Given the description of an element on the screen output the (x, y) to click on. 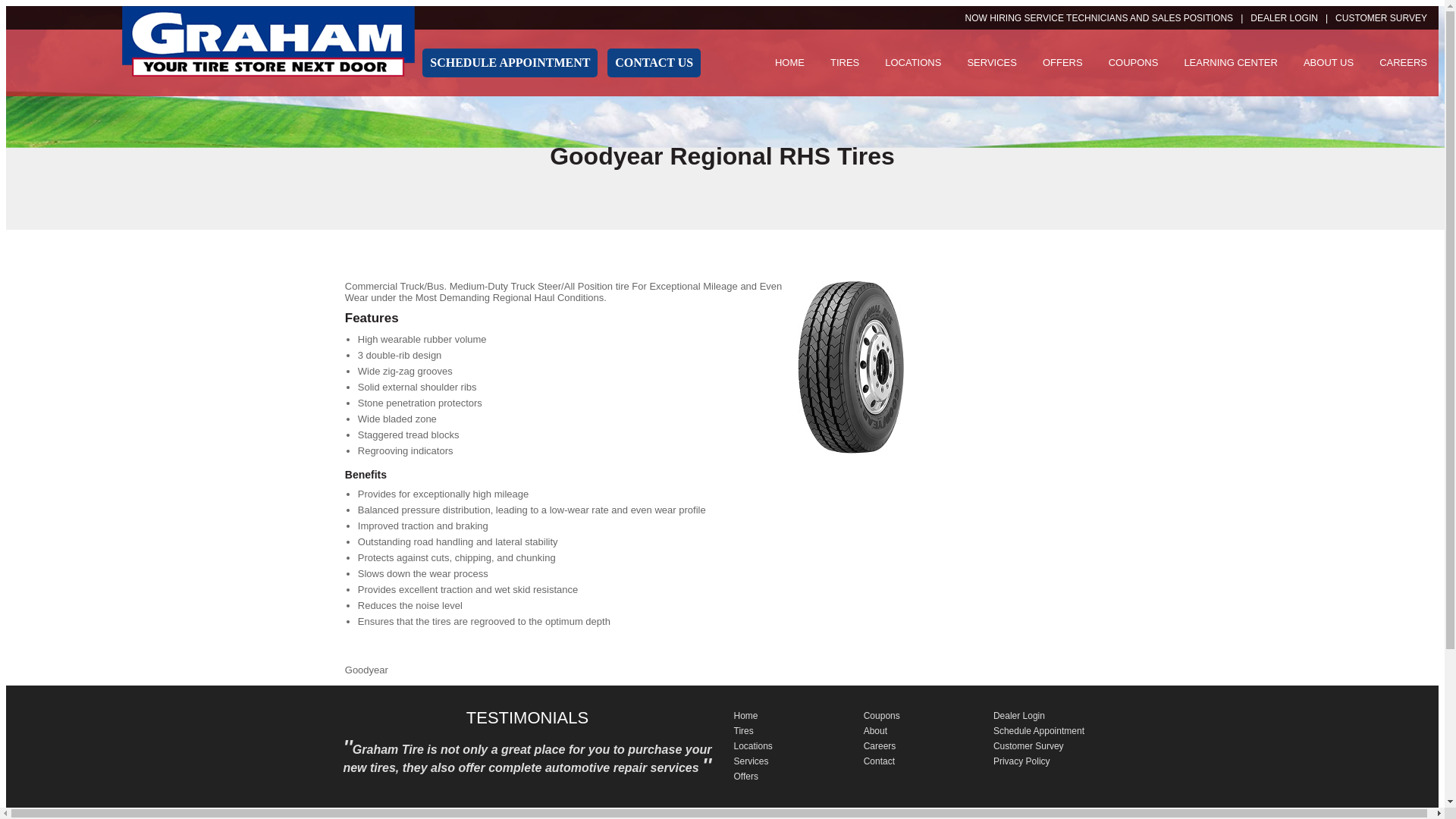
Coupons (881, 715)
SCHEDULE APPOINTMENT (509, 62)
CUSTOMER SURVEY (1380, 18)
ABOUT US (1328, 62)
Careers (879, 746)
Tires (743, 730)
Services (750, 760)
Contact (879, 760)
Home (745, 715)
NOW HIRING SERVICE TECHNICIANS AND SALES POSITIONS (1106, 18)
